Given the description of an element on the screen output the (x, y) to click on. 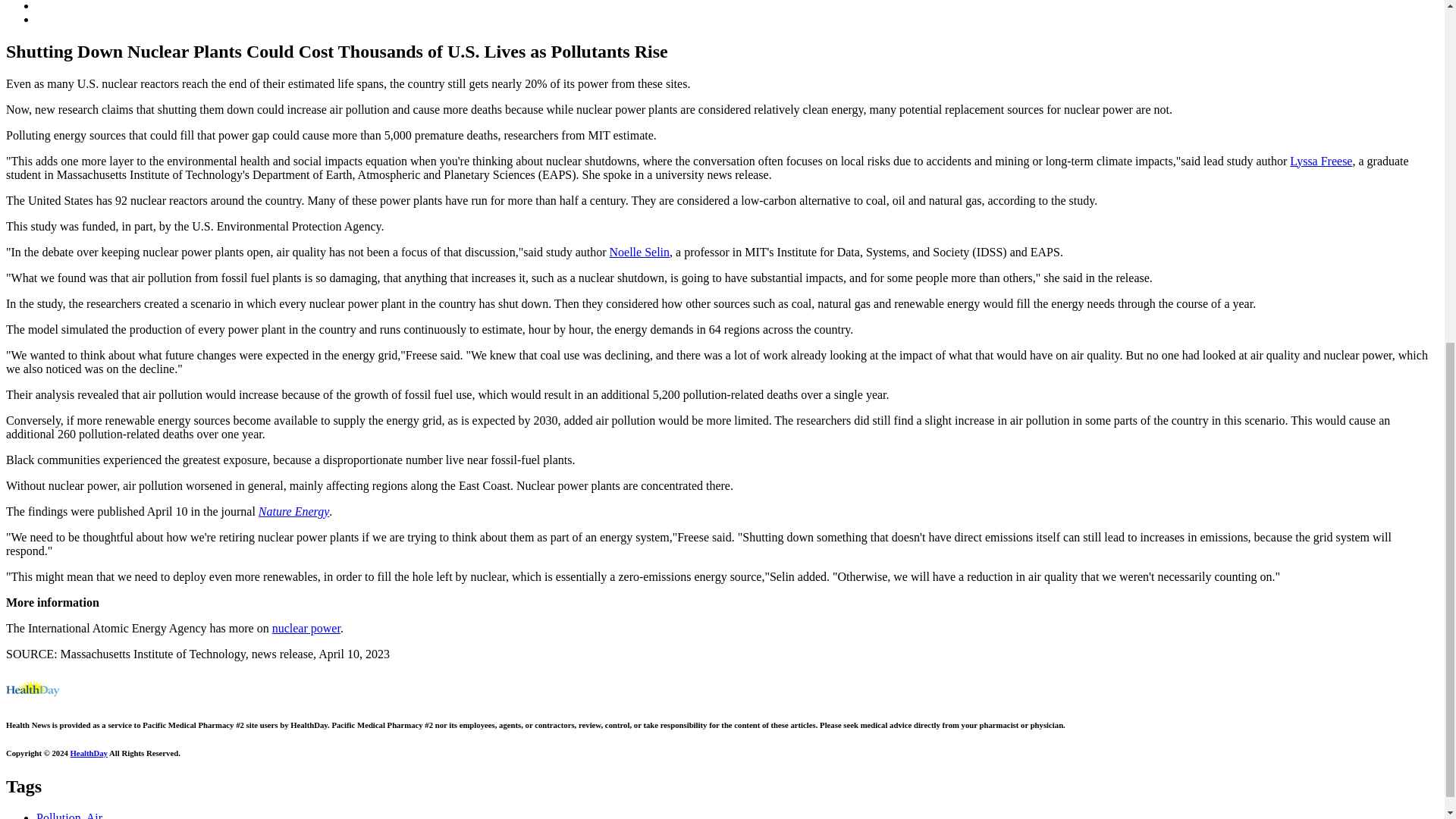
Noelle Selin (639, 251)
nuclear power (306, 627)
Nature Energy (294, 511)
HealthDay (88, 752)
Lyssa Freese (1321, 160)
